Given the description of an element on the screen output the (x, y) to click on. 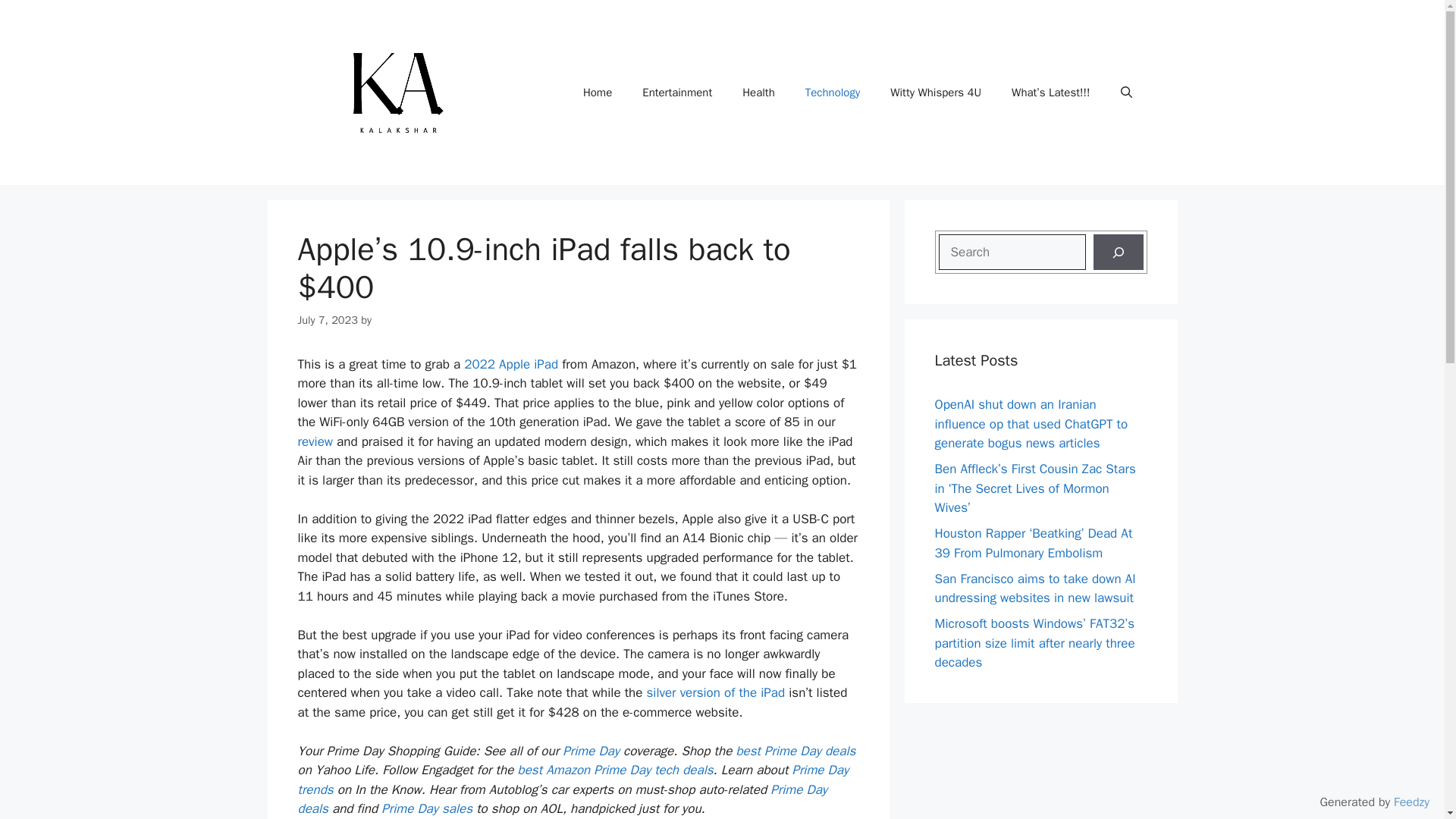
Prime Day deals (562, 799)
Prime Day sales (426, 808)
Prime Day trends (572, 779)
best Amazon Prime Day tech deals (613, 770)
Health (758, 92)
Prime Day (589, 750)
2022 Apple iPad (510, 364)
Witty Whispers 4U (935, 92)
Technology (833, 92)
silver version of the iPad (716, 692)
